Given the description of an element on the screen output the (x, y) to click on. 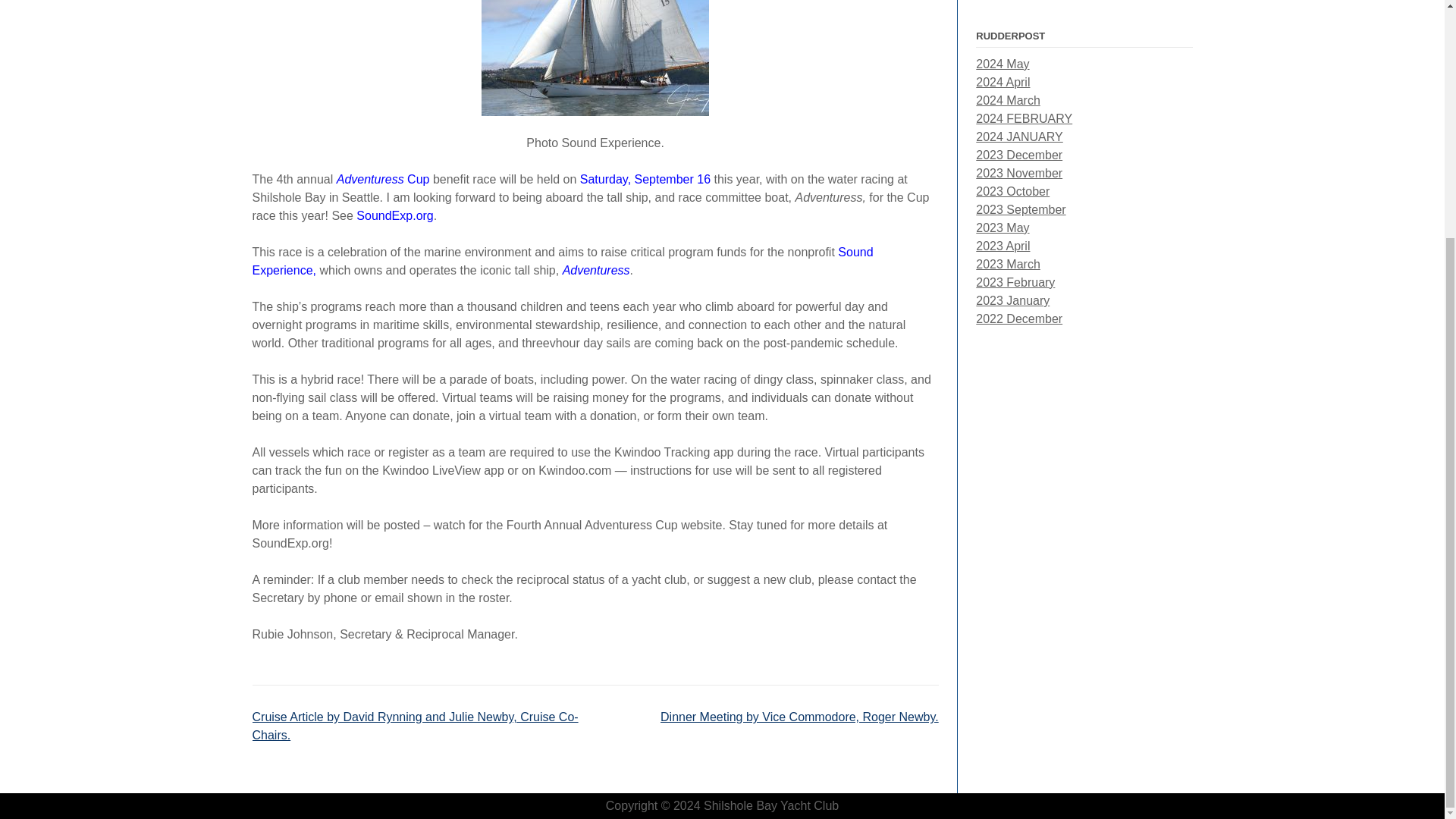
2022 December (1018, 129)
2023 March (1008, 74)
2023 January (1012, 111)
2023 September (1020, 20)
Dinner Meeting by Vice Commodore, Roger Newby. (800, 716)
2023 February (1014, 92)
2023 April (1002, 56)
2023 October (1012, 4)
2023 May (1002, 38)
